Given the description of an element on the screen output the (x, y) to click on. 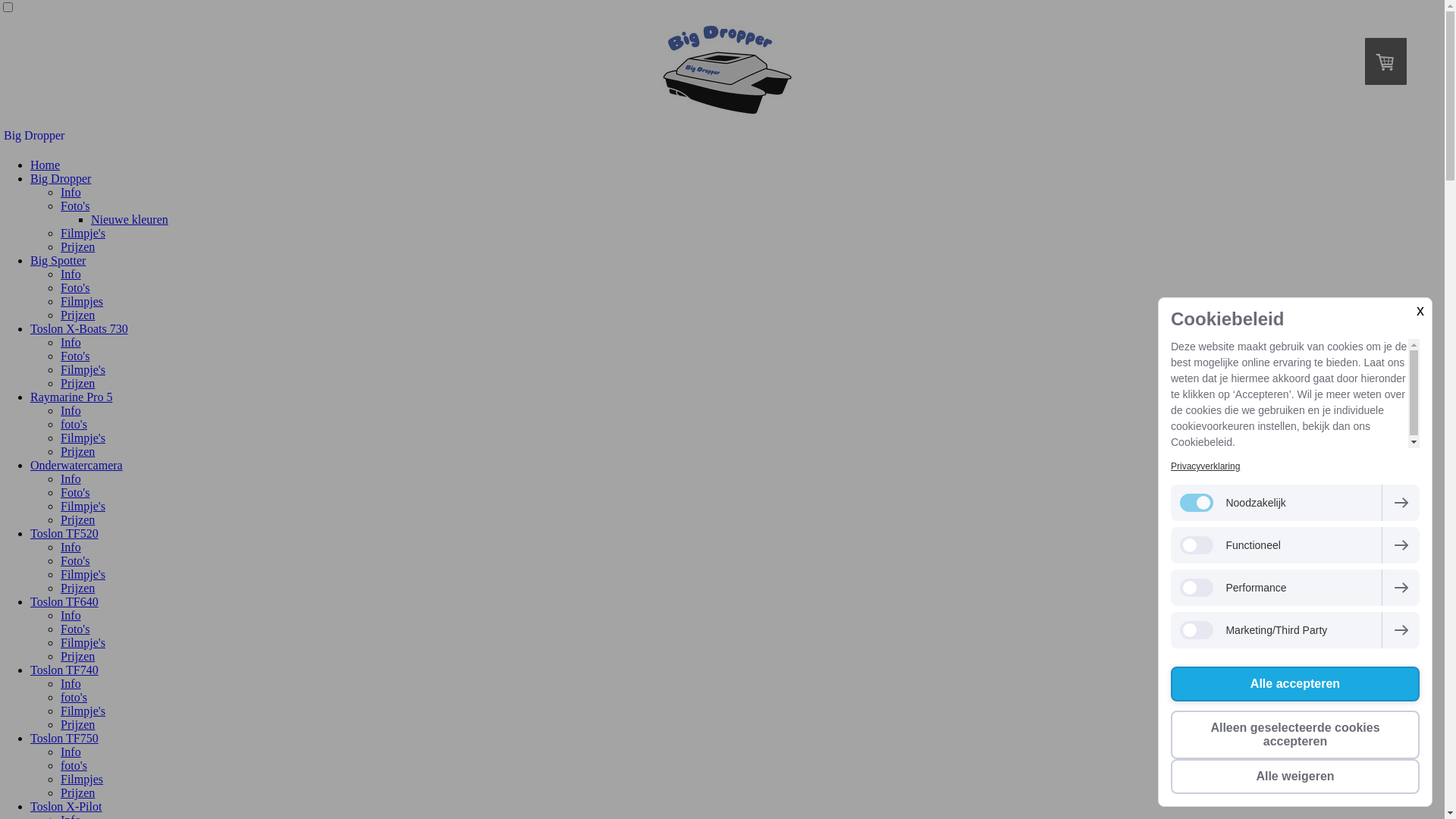
Toslon TF520 Element type: text (64, 533)
Info Element type: text (70, 191)
Toslon TF740 Element type: text (64, 669)
Onderwatercamera Element type: text (76, 464)
Prijzen Element type: text (77, 724)
Alle accepteren Element type: text (1294, 683)
Foto's Element type: text (74, 560)
Prijzen Element type: text (77, 382)
Alle weigeren Element type: text (1294, 776)
Foto's Element type: text (74, 628)
Info Element type: text (70, 341)
Info Element type: text (70, 478)
Toslon TF750 Element type: text (64, 737)
Foto's Element type: text (74, 287)
Info Element type: text (70, 683)
Filmpje's Element type: text (82, 369)
Info Element type: text (70, 273)
Prijzen Element type: text (77, 246)
foto's Element type: text (73, 423)
Info Element type: text (70, 546)
Filmpje's Element type: text (82, 437)
Foto's Element type: text (74, 205)
Big Dropper Element type: text (60, 178)
Prijzen Element type: text (77, 655)
Info Element type: text (70, 614)
Foto's Element type: text (74, 492)
Toslon X-Pilot Element type: text (65, 806)
Filmpjes Element type: text (81, 300)
Prijzen Element type: text (77, 314)
Foto's Element type: text (74, 355)
foto's Element type: text (73, 765)
Prijzen Element type: text (77, 587)
Big Spotter Element type: text (57, 260)
Filmpje's Element type: text (82, 642)
Info Element type: text (70, 410)
Big Dropper Element type: text (721, 135)
Prijzen Element type: text (77, 451)
foto's Element type: text (73, 696)
Toslon TF640 Element type: text (64, 601)
Raymarine Pro 5 Element type: text (71, 396)
Home Element type: text (44, 164)
Info Element type: text (70, 751)
Nieuwe kleuren Element type: text (129, 219)
Filmpje's Element type: text (82, 232)
Toslon X-Boats 730 Element type: text (79, 328)
Alleen geselecteerde cookies accepteren Element type: text (1294, 734)
Prijzen Element type: text (77, 519)
Filmpjes Element type: text (81, 778)
Filmpje's Element type: text (82, 710)
Privacyverklaring Element type: text (1204, 466)
Filmpje's Element type: text (82, 505)
Prijzen Element type: text (77, 792)
Filmpje's Element type: text (82, 573)
